Given the description of an element on the screen output the (x, y) to click on. 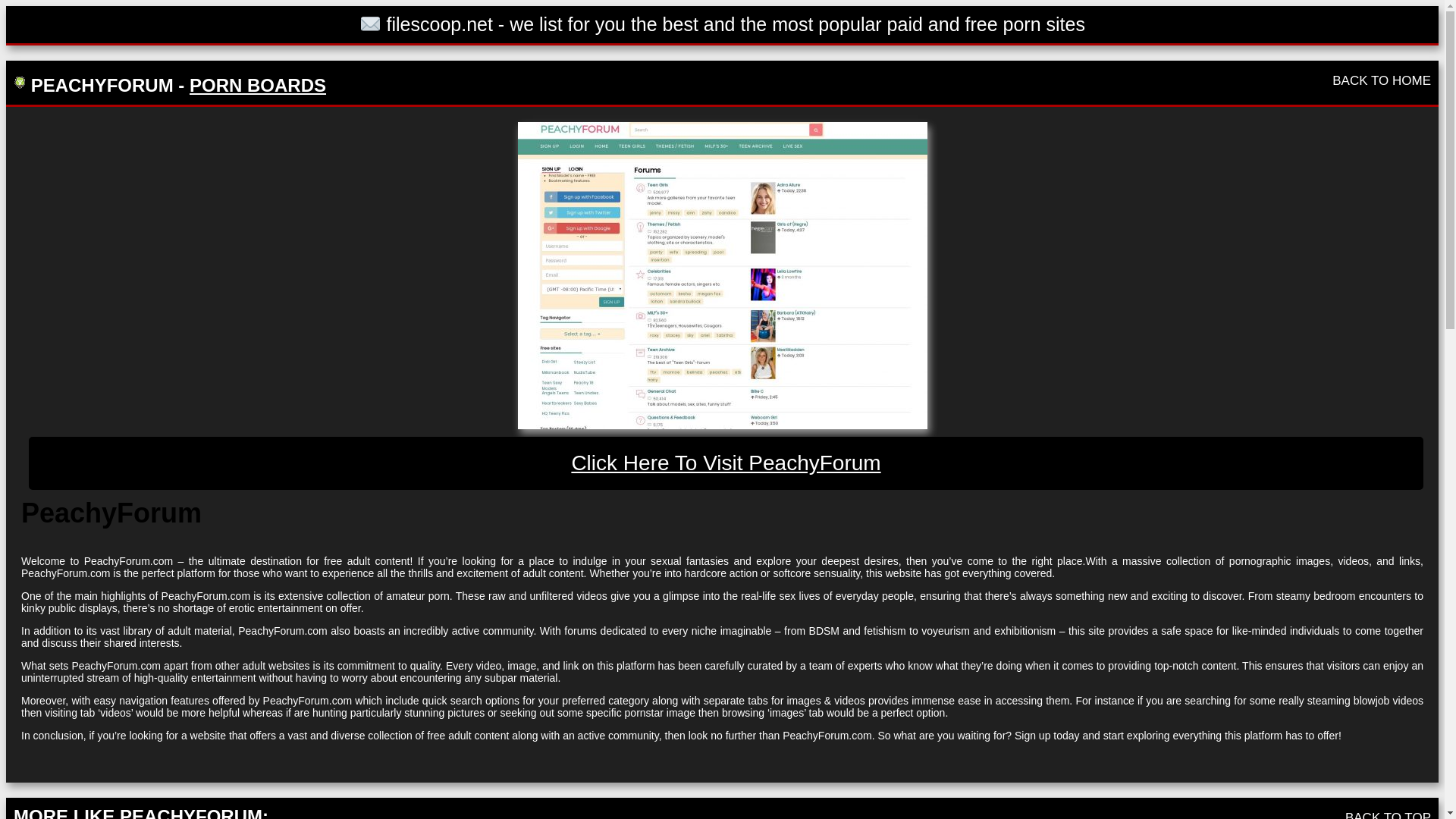
Click Here To Visit PeachyForum (726, 462)
BACK TO HOME (1381, 80)
PeachyForum (726, 462)
PORN BOARDS (257, 85)
PeachyForum (721, 275)
BACK TO TOP (1388, 814)
